Given the description of an element on the screen output the (x, y) to click on. 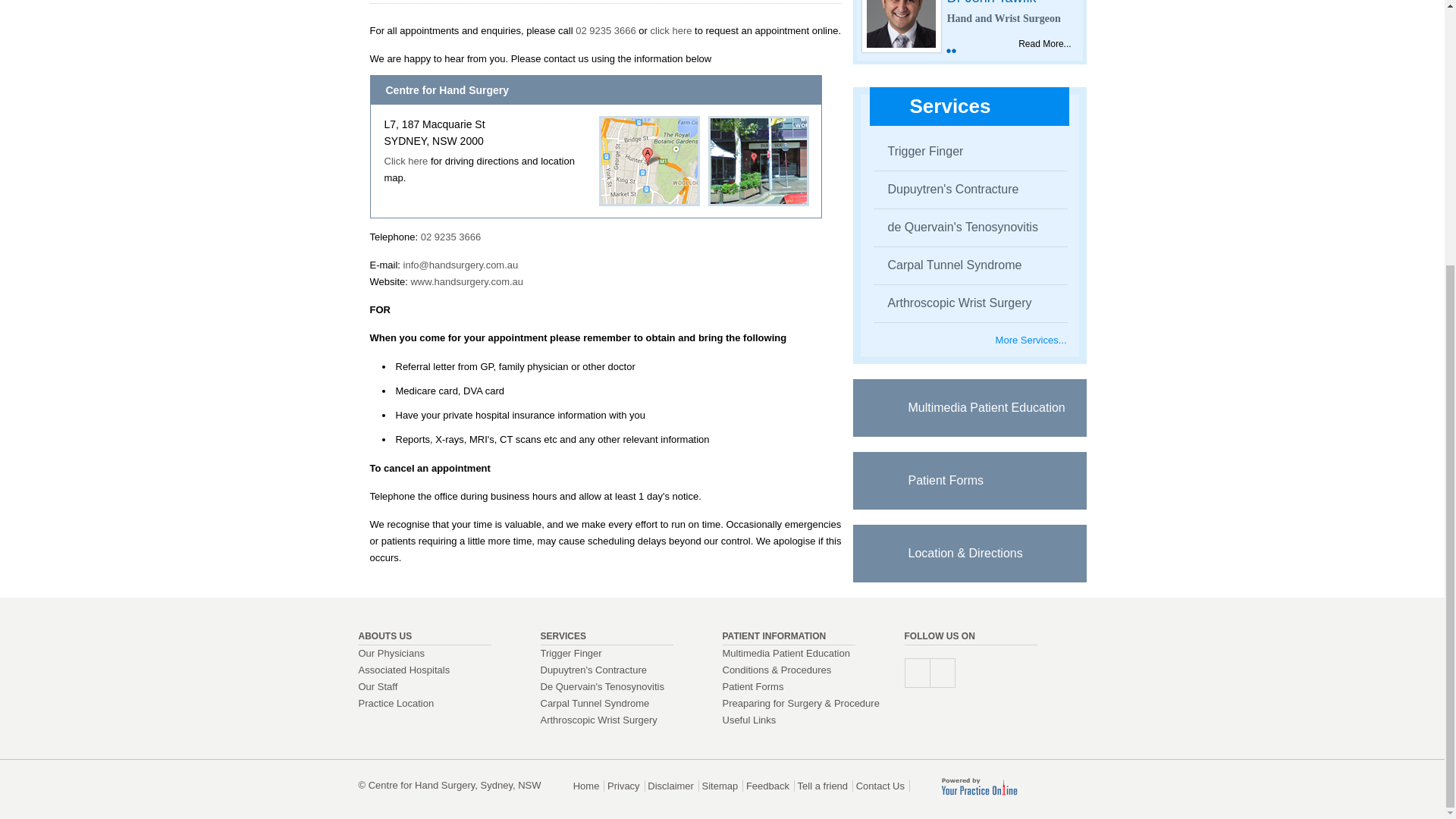
02 9235 3666 (605, 30)
02 9235 3666 (450, 236)
www.handsurgery.com.au (466, 281)
Trigger Finger (918, 151)
Read More... (1043, 43)
Click here (406, 161)
click here (671, 30)
